Given the description of an element on the screen output the (x, y) to click on. 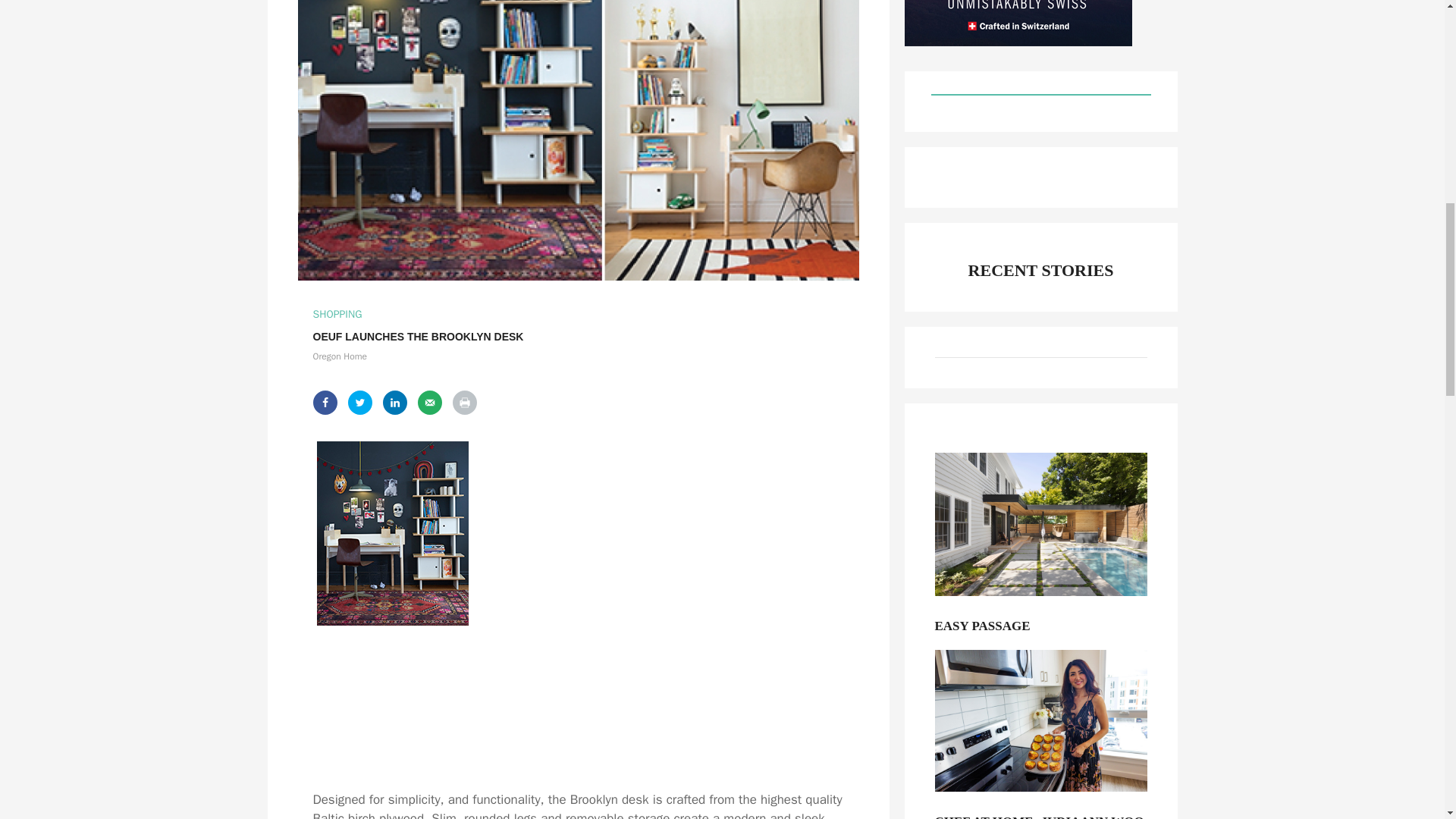
Oregon Home (339, 355)
CHEF AT HOME: JUDIAANN WOO (1040, 815)
Send over email (428, 402)
View all posts by Oregon Home (339, 355)
Share on LinkedIn (393, 402)
Print this webpage (463, 402)
Share on Facebook (324, 402)
EASY PASSAGE (1040, 629)
SHOPPING (337, 314)
Share on Twitter (359, 402)
